Given the description of an element on the screen output the (x, y) to click on. 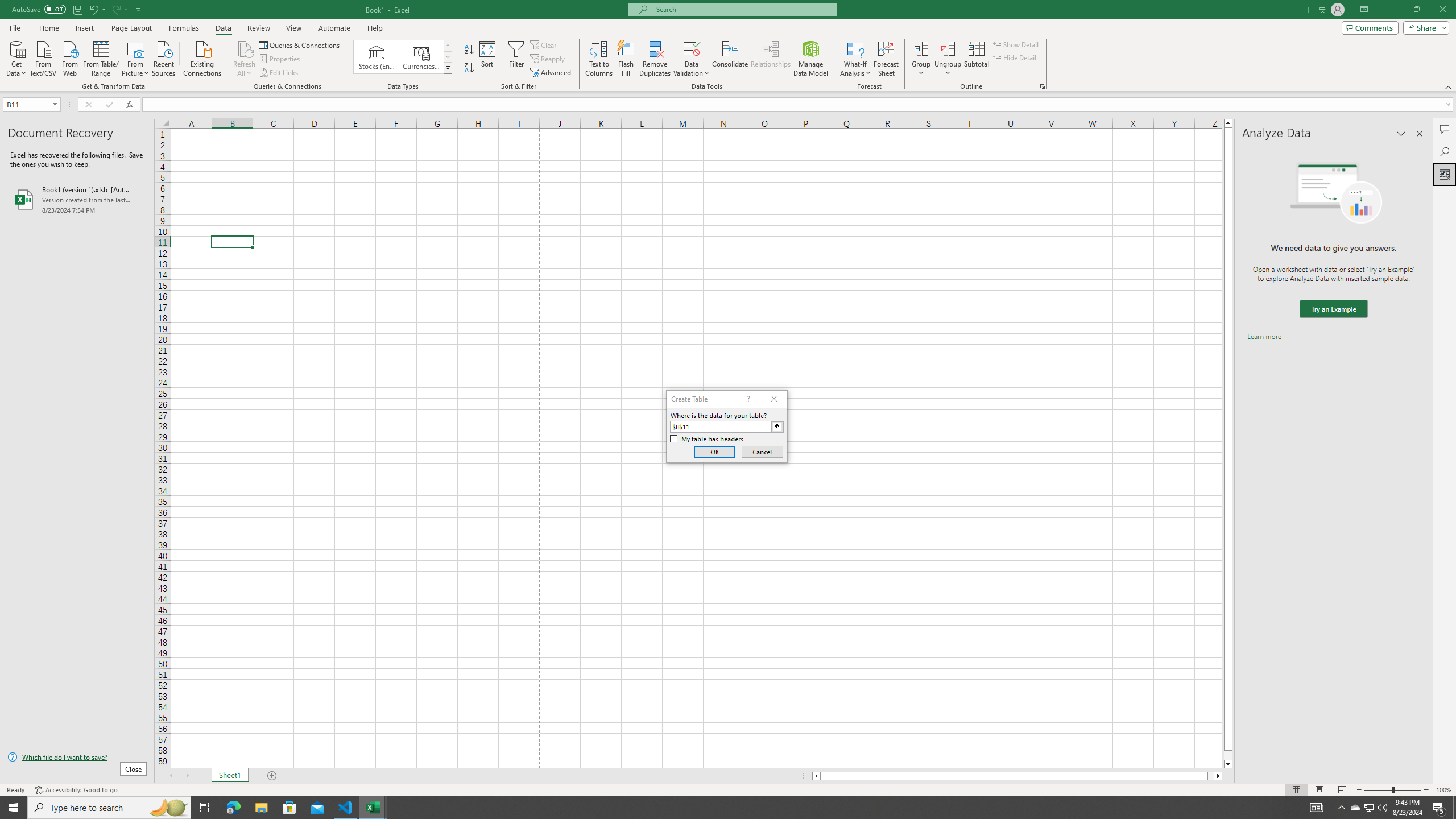
What-If Analysis (855, 58)
Learn more (1264, 336)
Formula Bar (799, 104)
AutomationID: ConvertToLinkedEntity (403, 56)
Edit Links (279, 72)
